Given the description of an element on the screen output the (x, y) to click on. 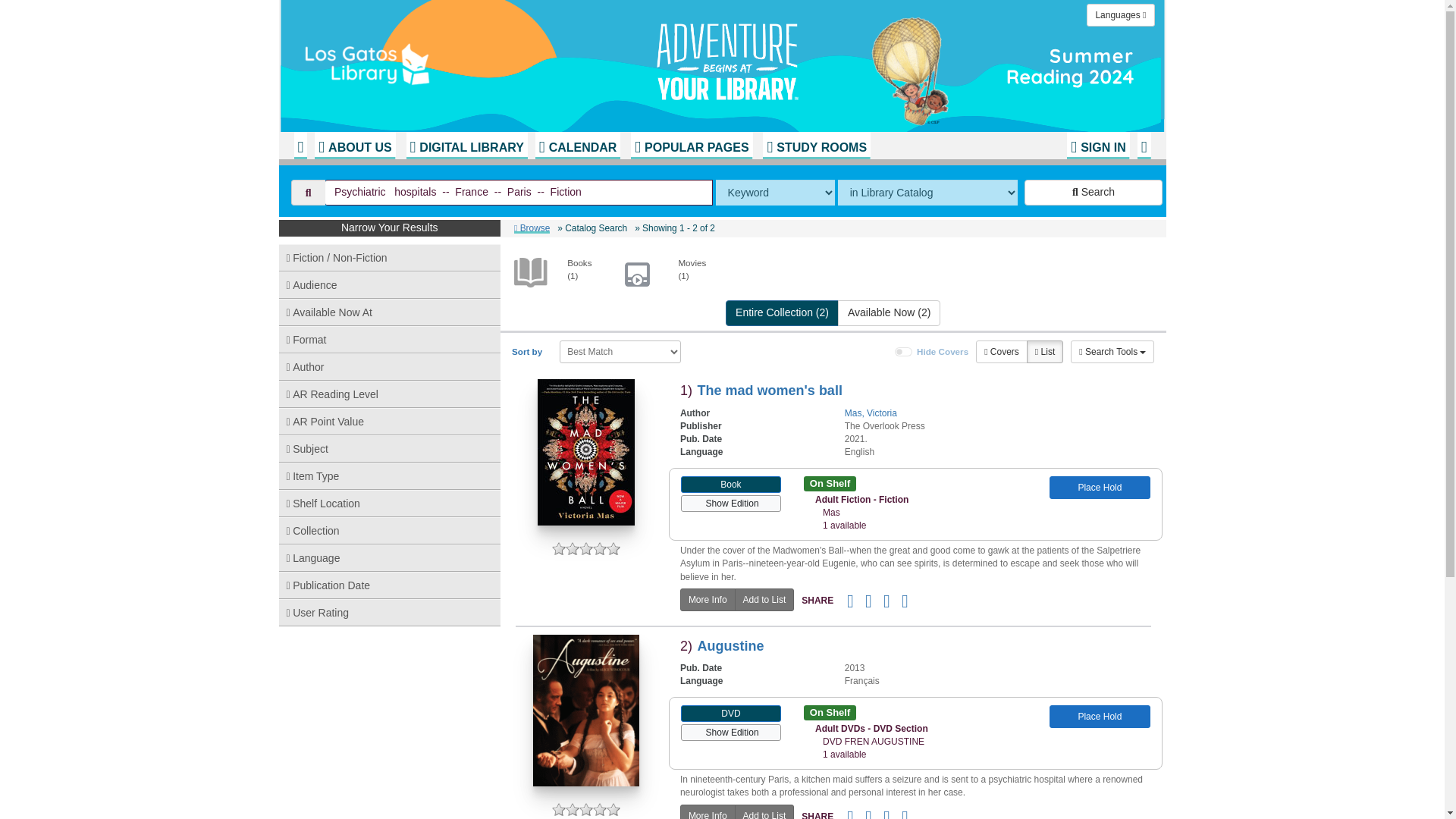
POPULAR PAGES (691, 144)
Languages  (1120, 15)
SIGN IN (1098, 144)
Psychiatric   hospitals  --  France  --  Paris  --  Fiction (518, 192)
CALENDAR (578, 144)
on (903, 351)
STUDY ROOMS (816, 144)
ABOUT US (354, 144)
Library Home Page (483, 60)
 Search (1093, 192)
DIGITAL LIBRARY (466, 144)
